Given the description of an element on the screen output the (x, y) to click on. 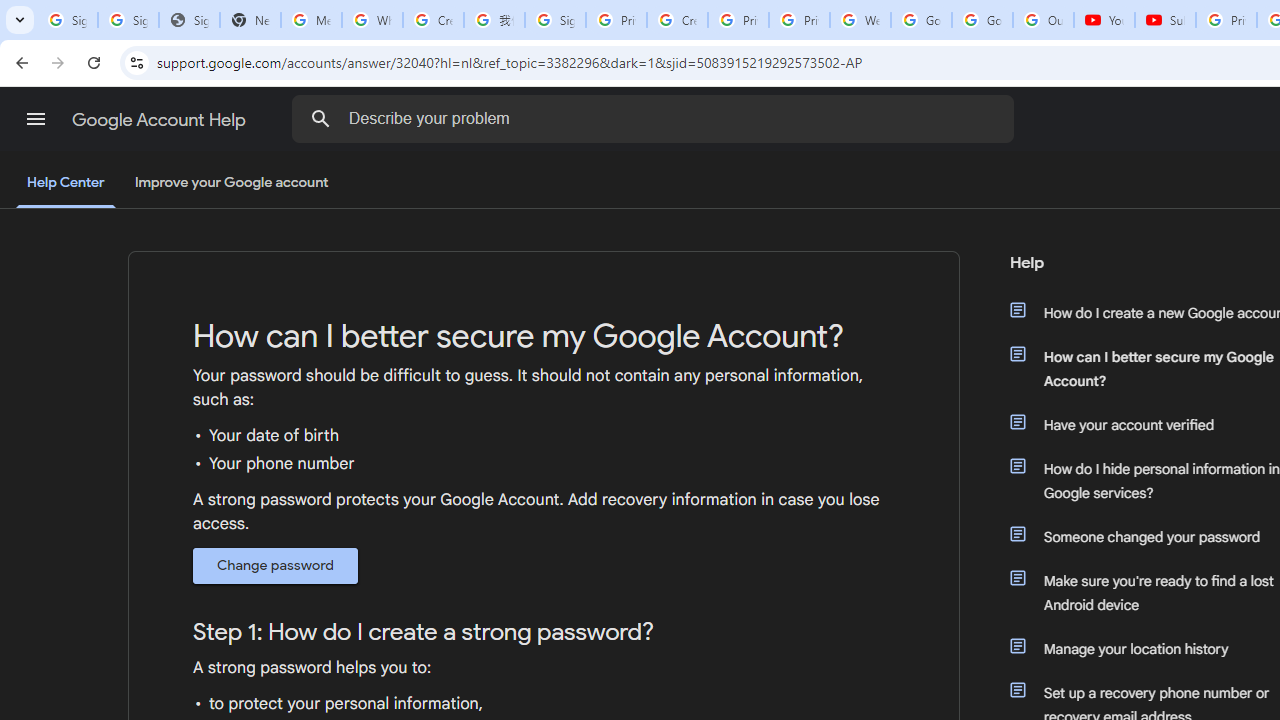
Google Account (982, 20)
Subscriptions - YouTube (1165, 20)
YouTube (1104, 20)
New Tab (250, 20)
